Given the description of an element on the screen output the (x, y) to click on. 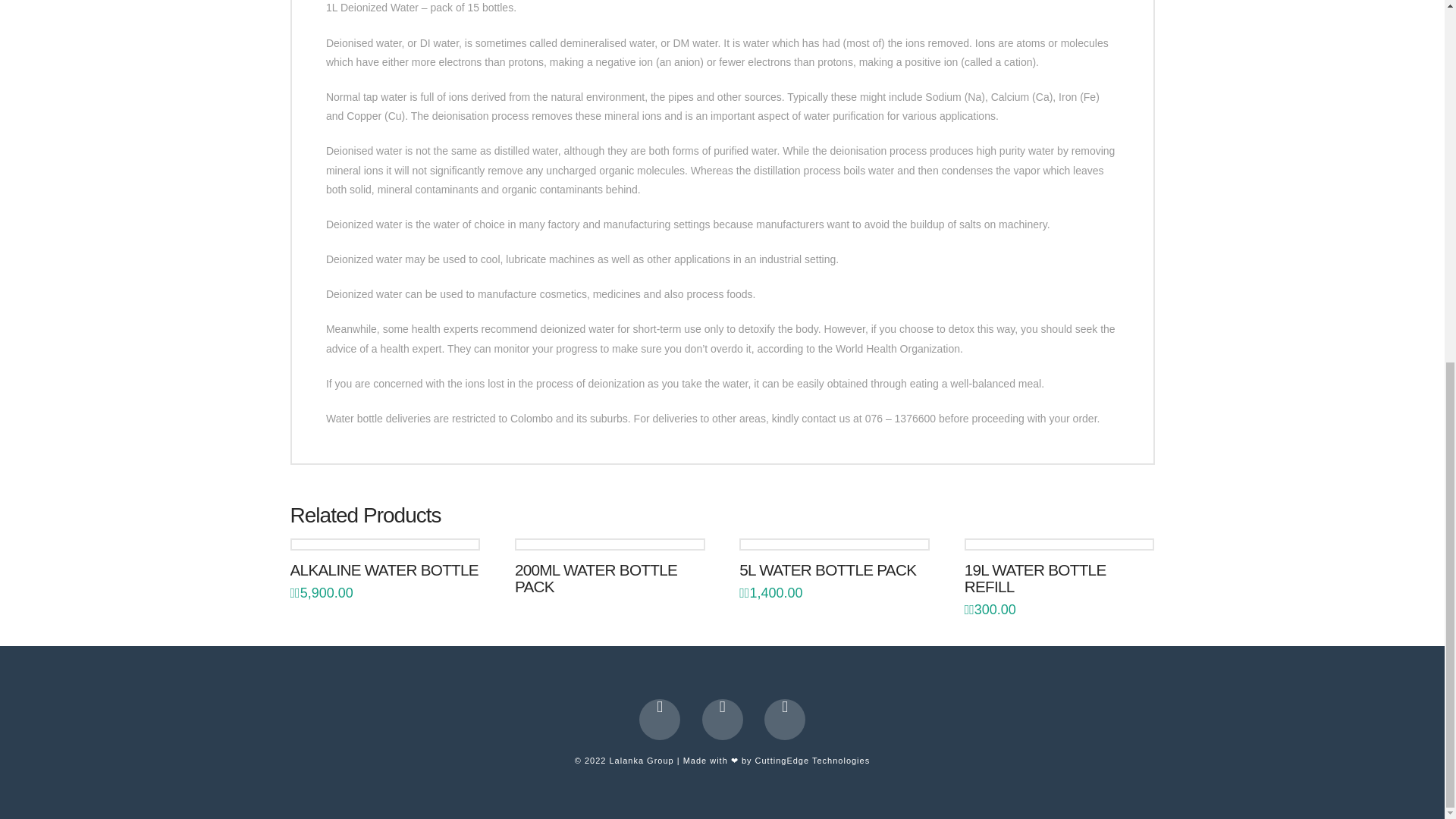
Facebook (659, 719)
YouTube (721, 719)
Whatsapp (784, 719)
